Given the description of an element on the screen output the (x, y) to click on. 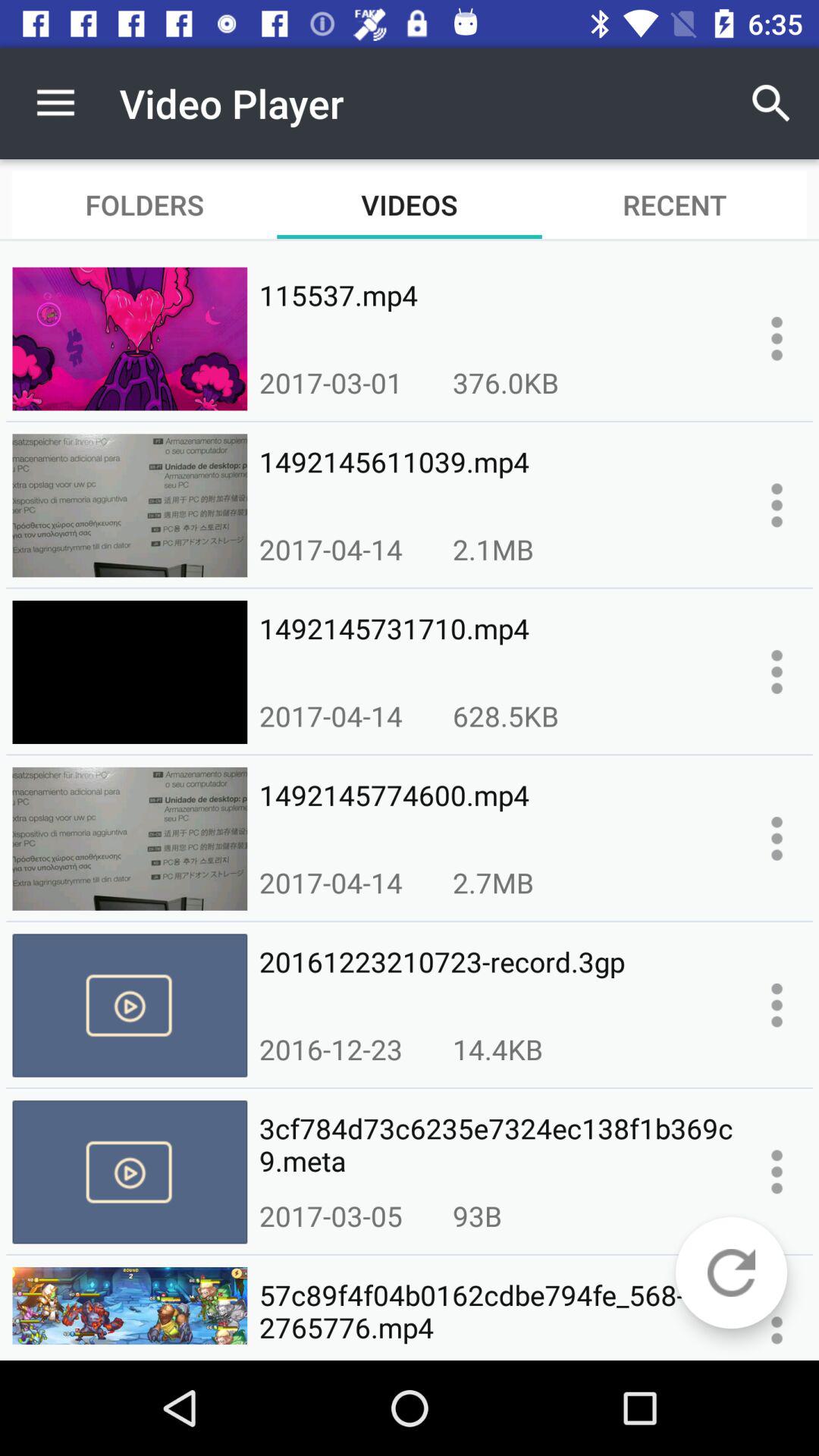
information about the video (776, 838)
